Given the description of an element on the screen output the (x, y) to click on. 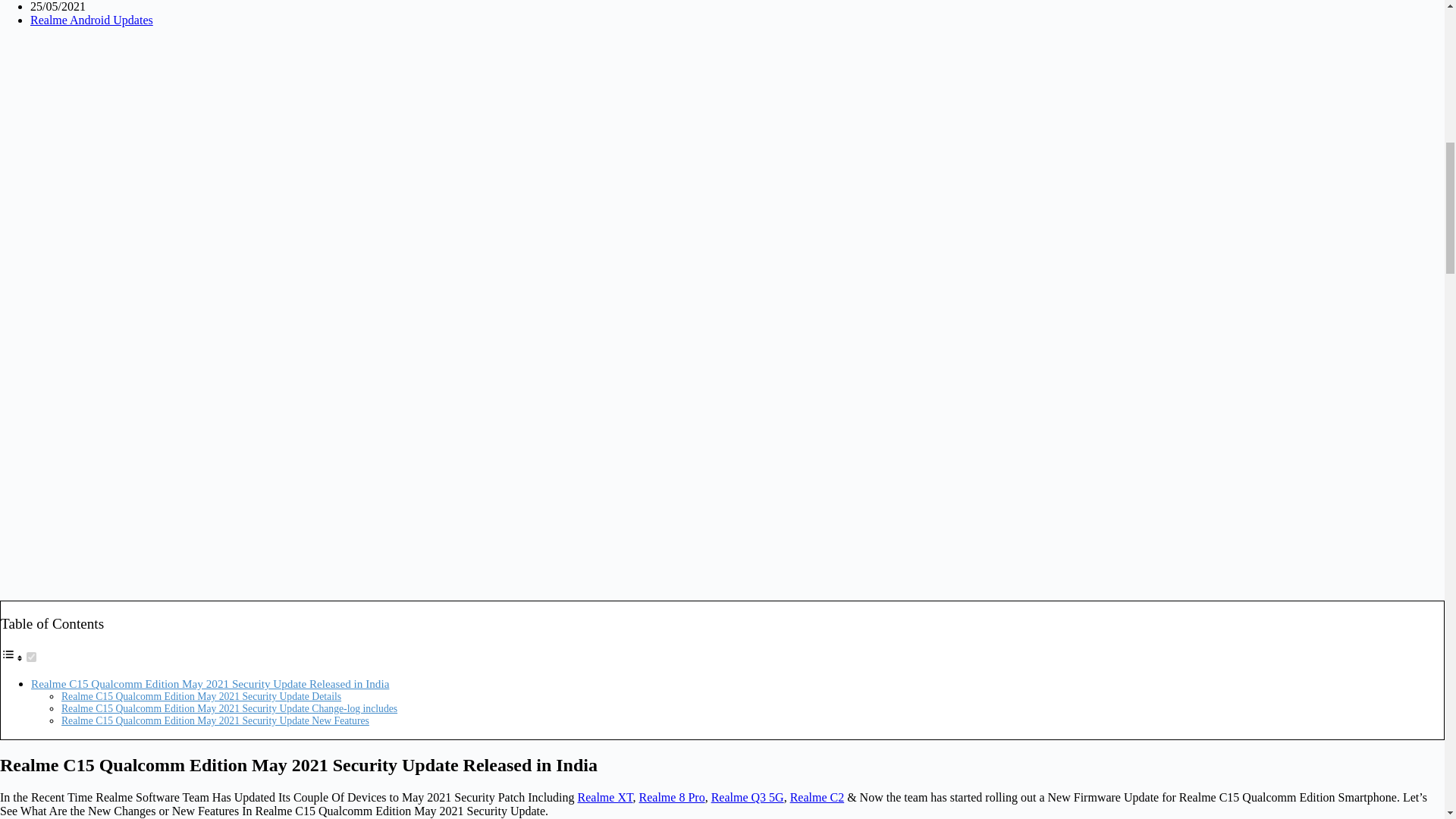
Realme C15 Qualcomm Edition May 2021 Security Update Details (200, 696)
on (31, 656)
